Given the description of an element on the screen output the (x, y) to click on. 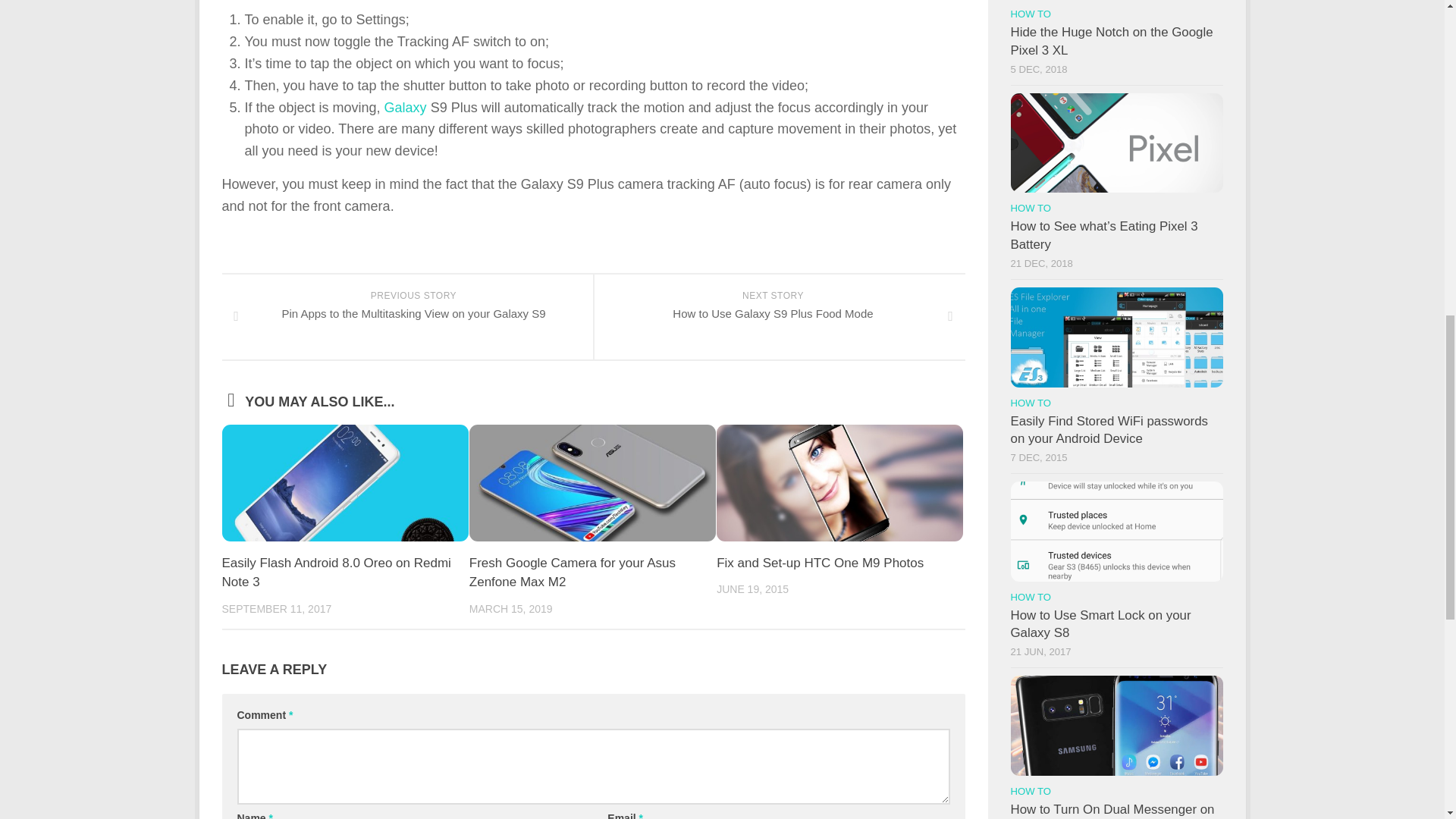
Fresh Google Camera for your Asus Zenfone Max M2 (571, 572)
Permalink to Fix and Set-up HTC One M9 Photos (777, 317)
Galaxy (819, 563)
Easily Flash Android 8.0 Oreo on Redmi Note 3 (405, 107)
Permalink to Easily Flash Android 8.0 Oreo on Redmi Note 3 (335, 572)
Fix and Set-up HTC One M9 Photos (335, 572)
